Given the description of an element on the screen output the (x, y) to click on. 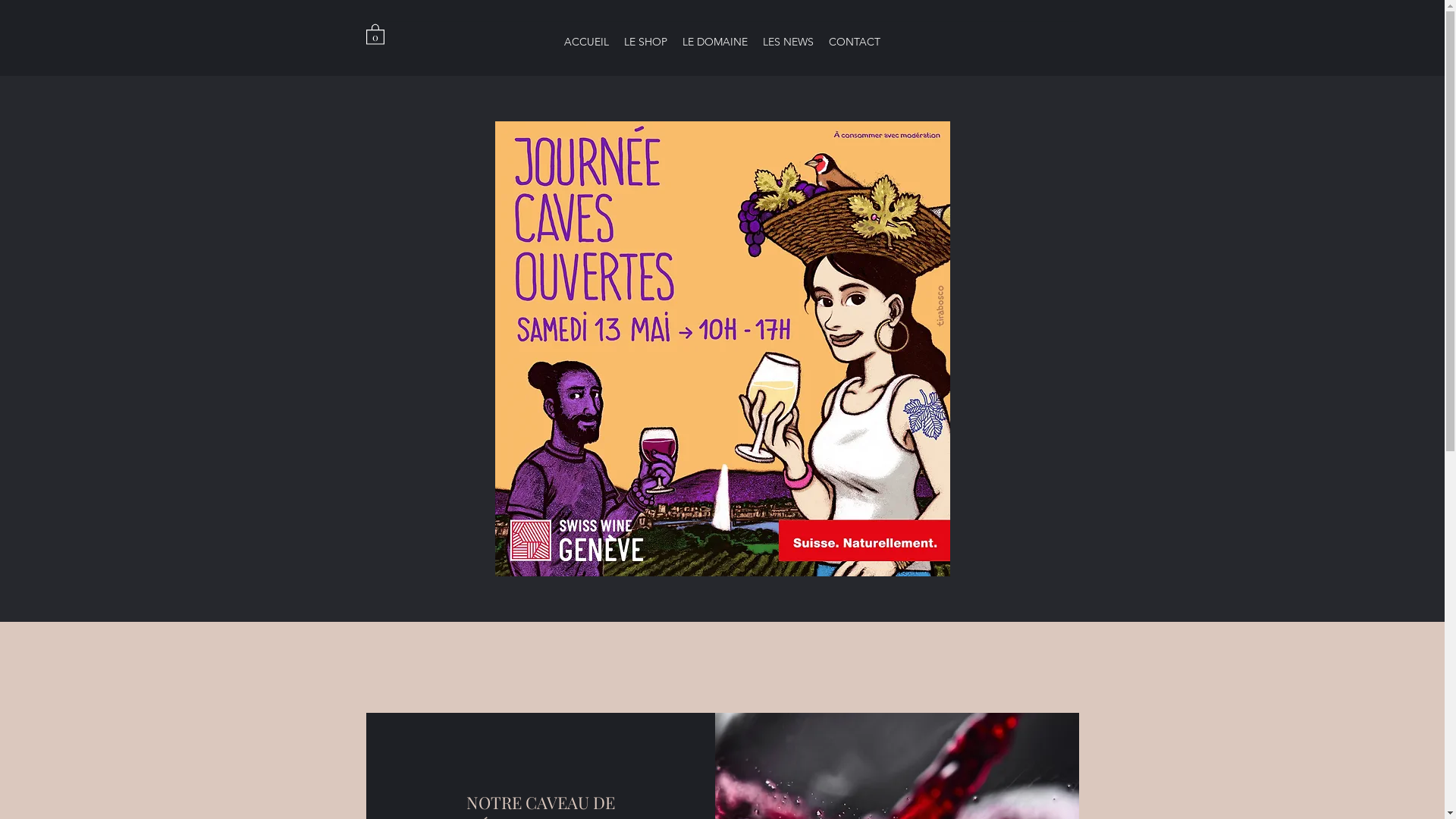
LES NEWS Element type: text (788, 41)
ACCUEIL Element type: text (586, 41)
CONTACT Element type: text (854, 41)
0 Element type: text (374, 33)
LE SHOP Element type: text (645, 41)
LE DOMAINE Element type: text (714, 41)
